Given the description of an element on the screen output the (x, y) to click on. 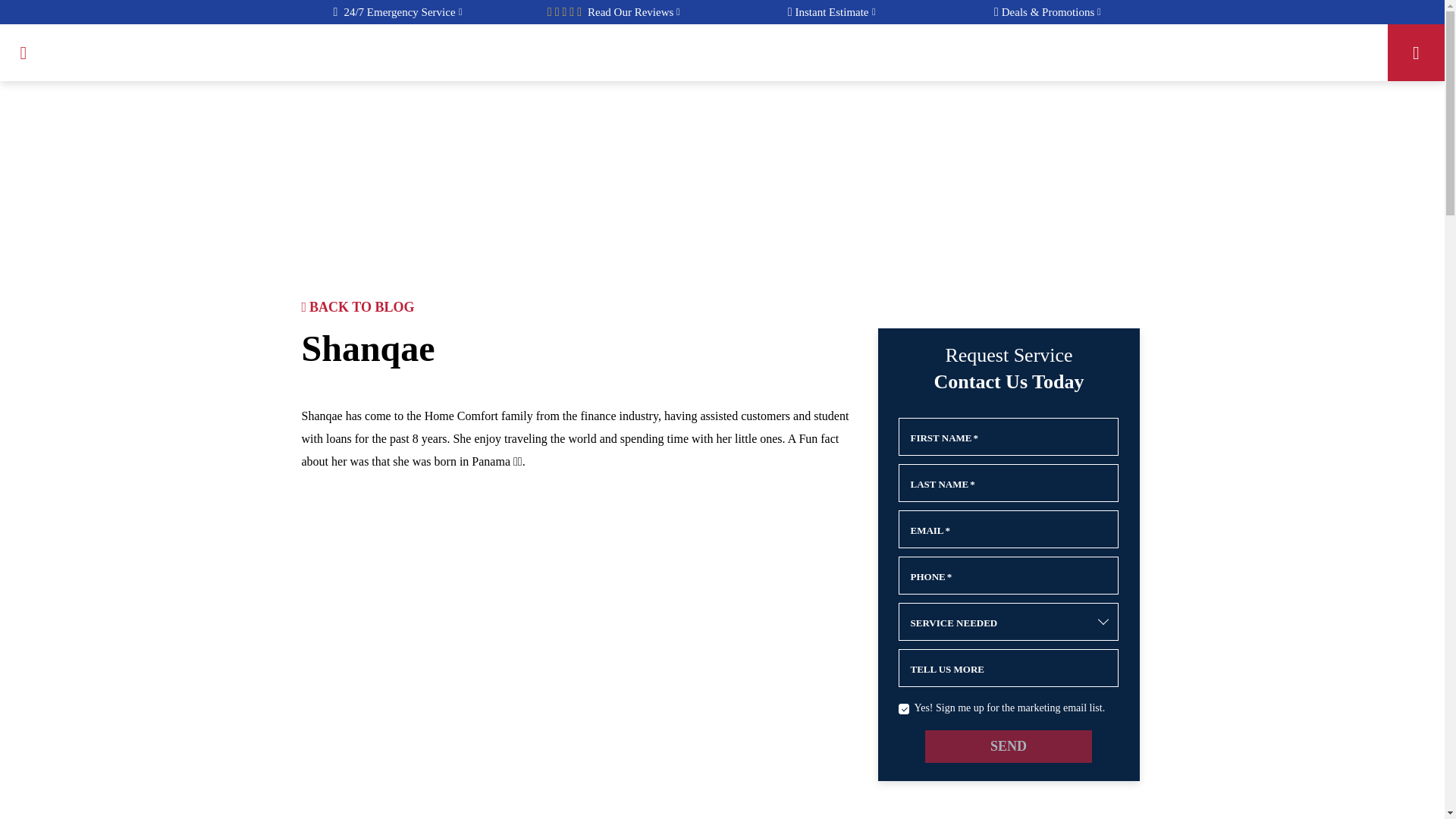
Read Our Reviews (634, 11)
Instant Estimate (831, 11)
Read Our Reviews (831, 11)
Yes! Sign me up for the marketing email list. (903, 708)
Read Our Reviews (634, 11)
